Given the description of an element on the screen output the (x, y) to click on. 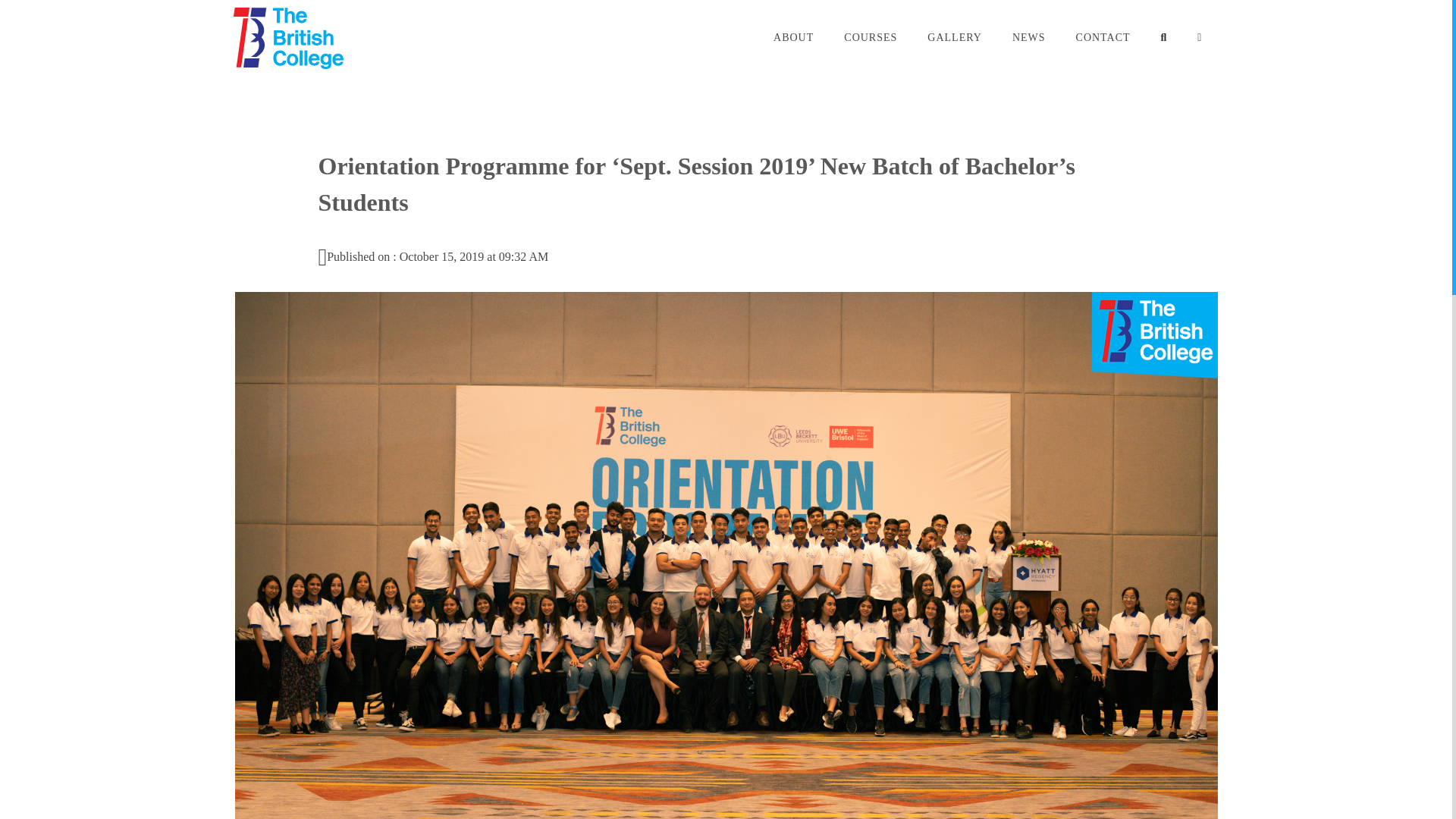
CONTACT (1103, 38)
COURSES (870, 38)
ABOUT (793, 38)
GALLERY (954, 38)
